Given the description of an element on the screen output the (x, y) to click on. 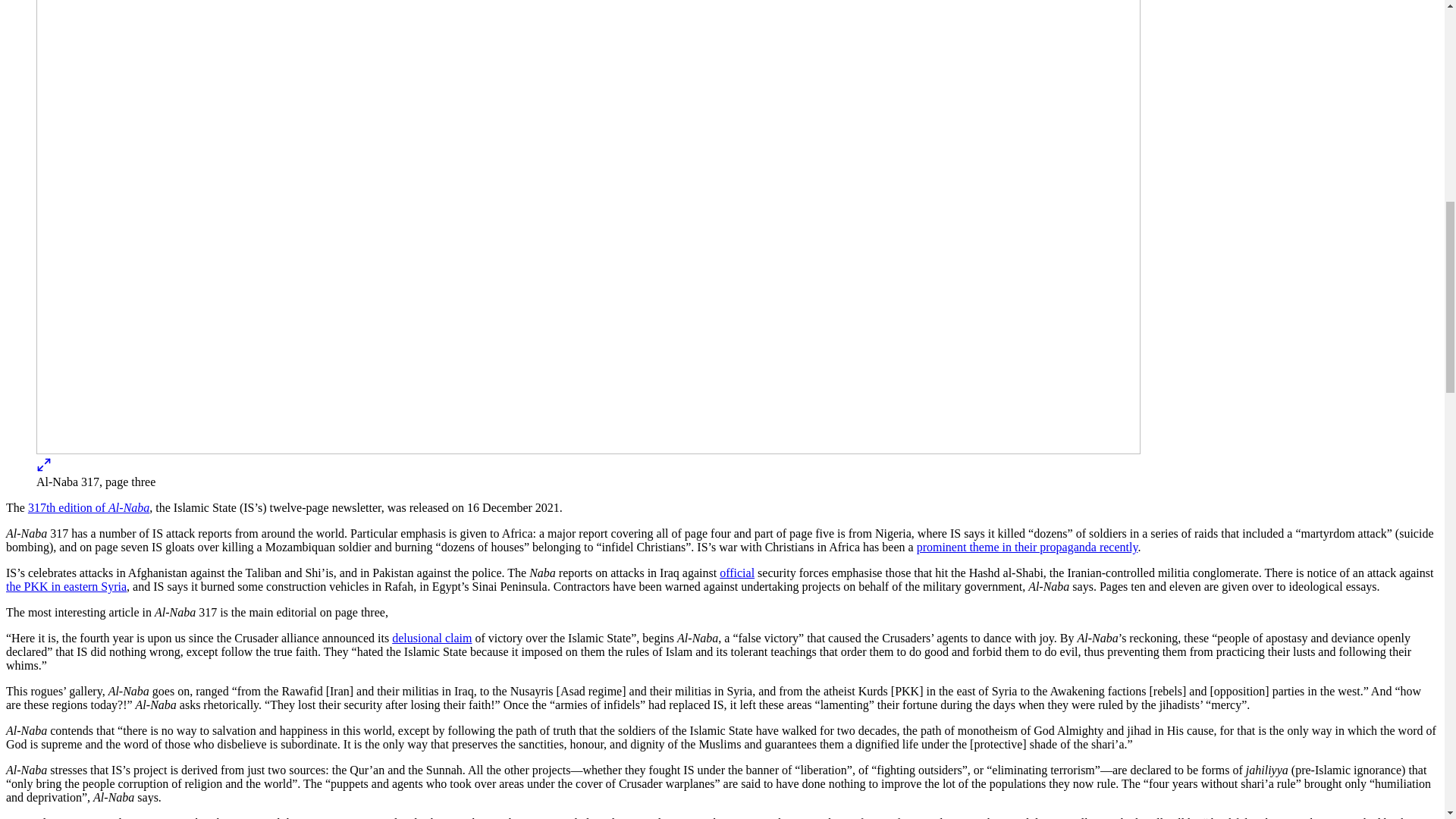
prominent theme in their propaganda recently (1027, 546)
317th edition of (67, 507)
delusional claim (431, 637)
the PKK in eastern Syria (65, 585)
official (736, 572)
Al-Naba (128, 507)
